Given the description of an element on the screen output the (x, y) to click on. 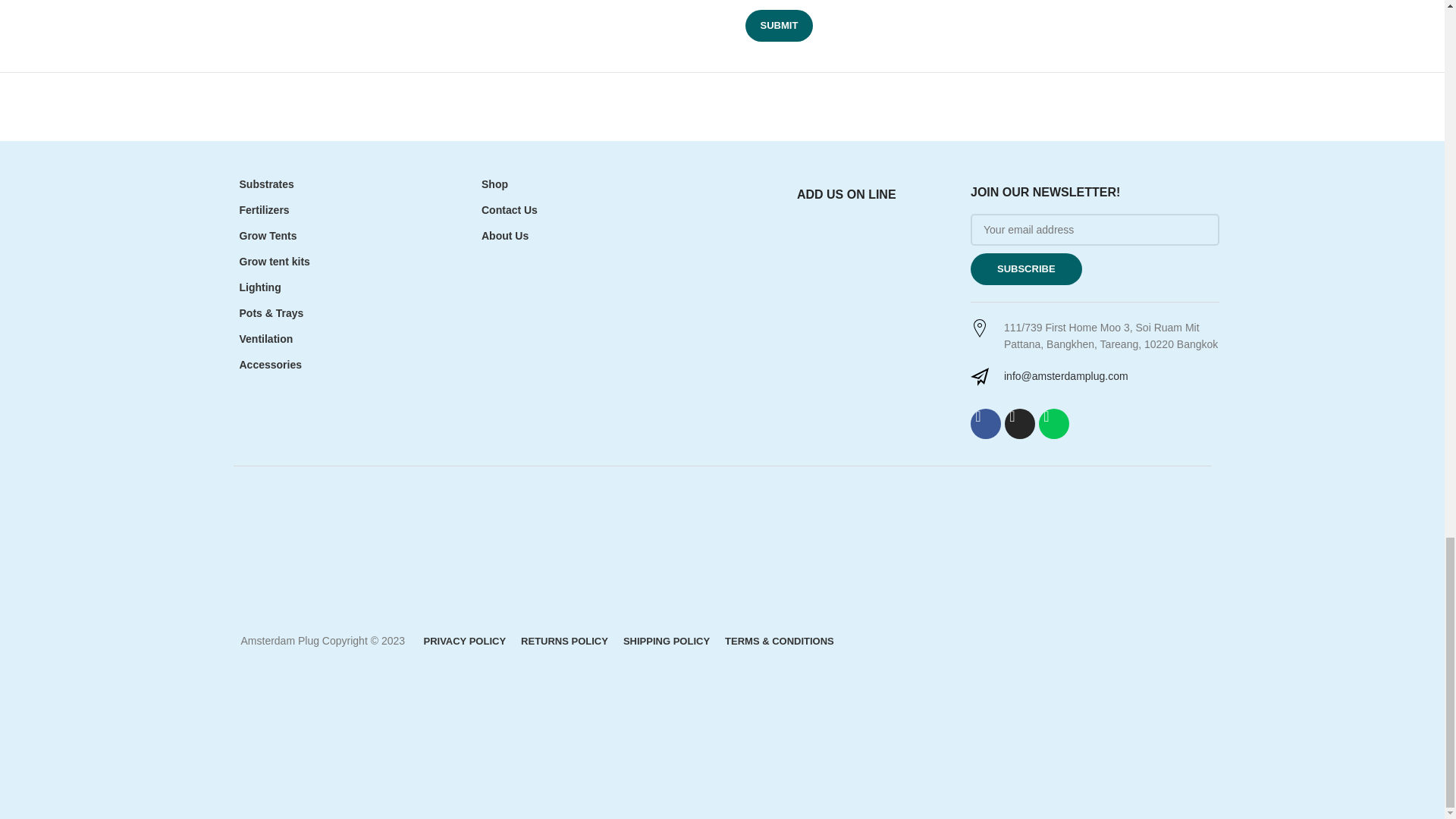
Submit (778, 25)
Subscribe (1026, 269)
